Given the description of an element on the screen output the (x, y) to click on. 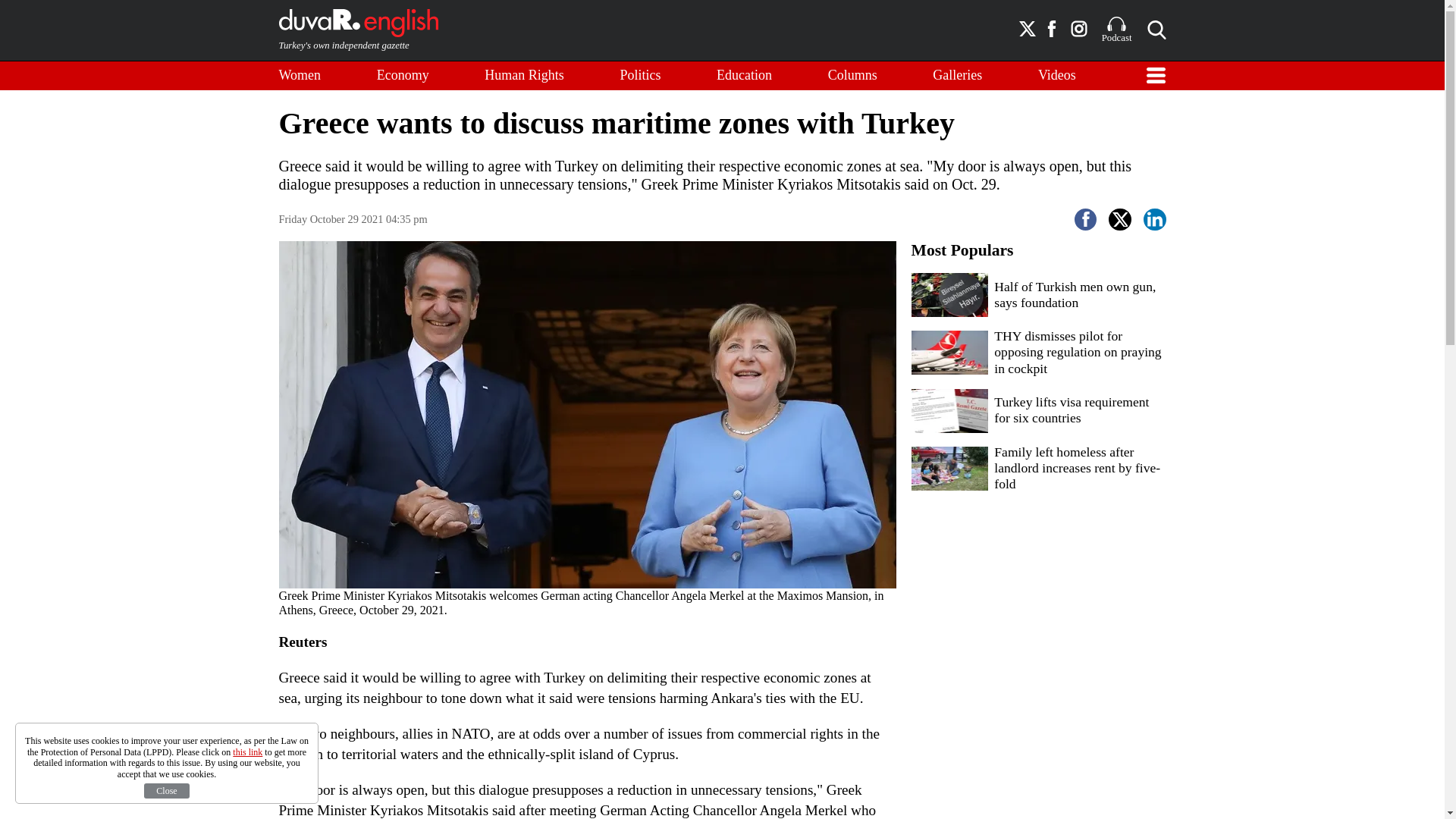
Women (300, 75)
Economy (403, 75)
Podcast (1117, 30)
Human Rights (524, 75)
Turkey's own independent gazette (358, 30)
